Given the description of an element on the screen output the (x, y) to click on. 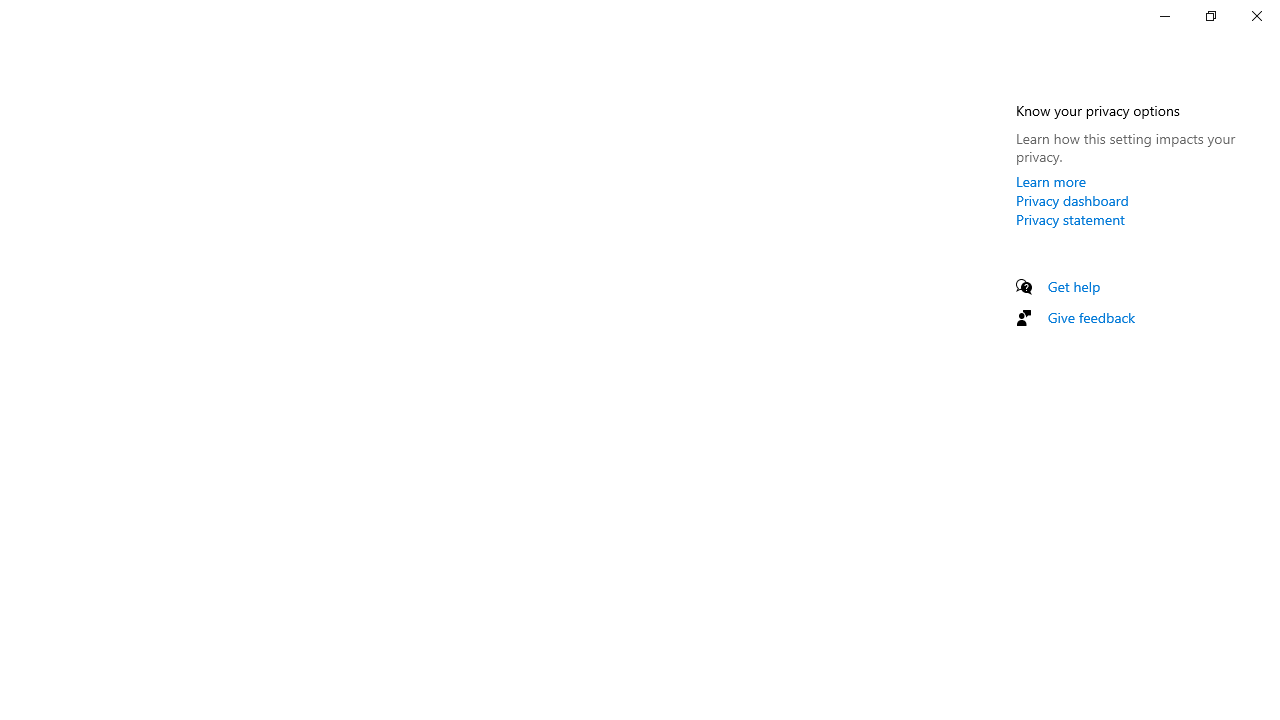
Privacy dashboard (1072, 200)
Privacy statement (1070, 219)
Minimize Settings (1164, 15)
Give feedback (1091, 317)
Get help (1074, 286)
Restore Settings (1210, 15)
Close Settings (1256, 15)
Learn more (1051, 181)
